Given the description of an element on the screen output the (x, y) to click on. 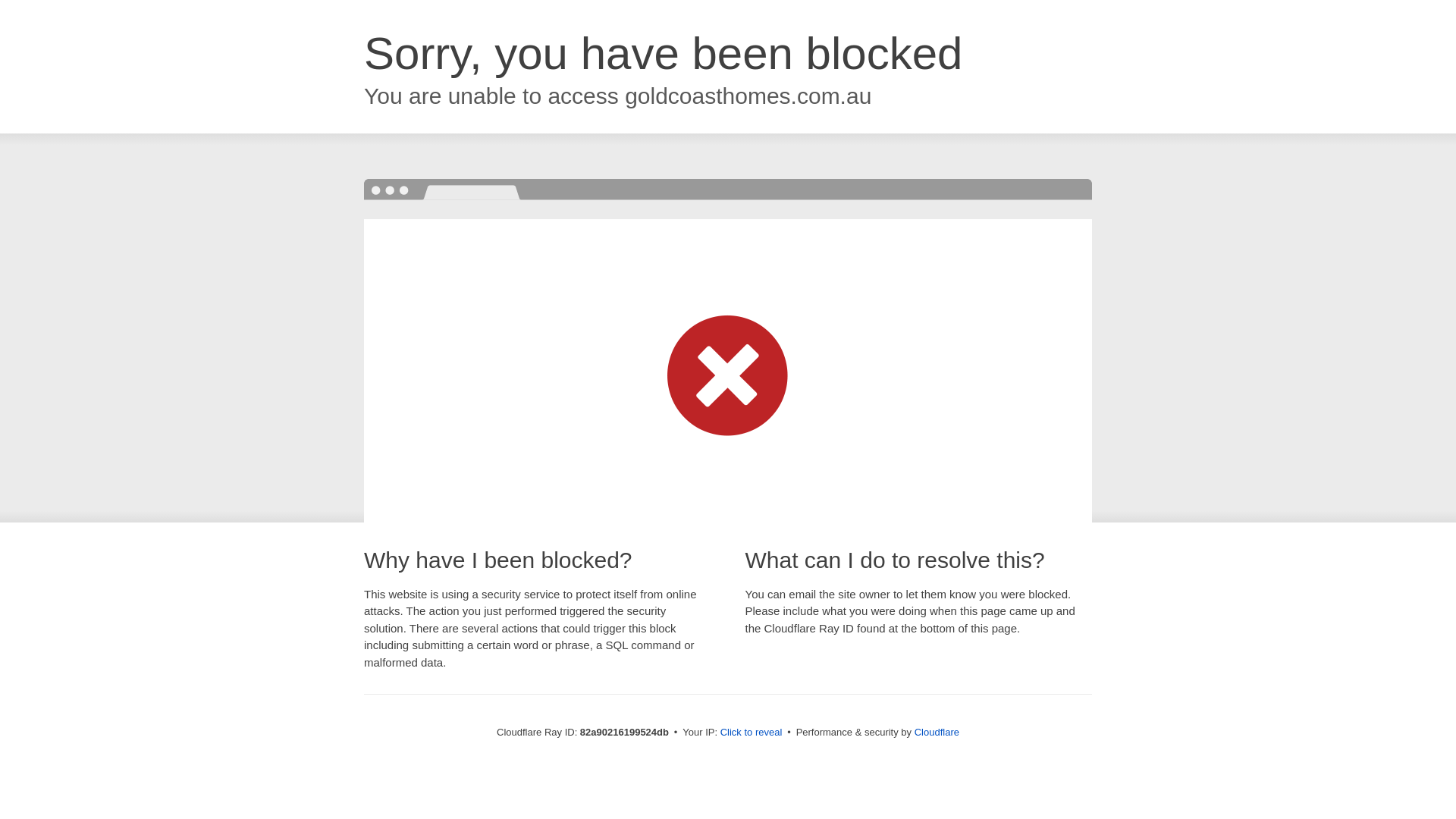
Cloudflare Element type: text (936, 731)
Click to reveal Element type: text (751, 732)
